Given the description of an element on the screen output the (x, y) to click on. 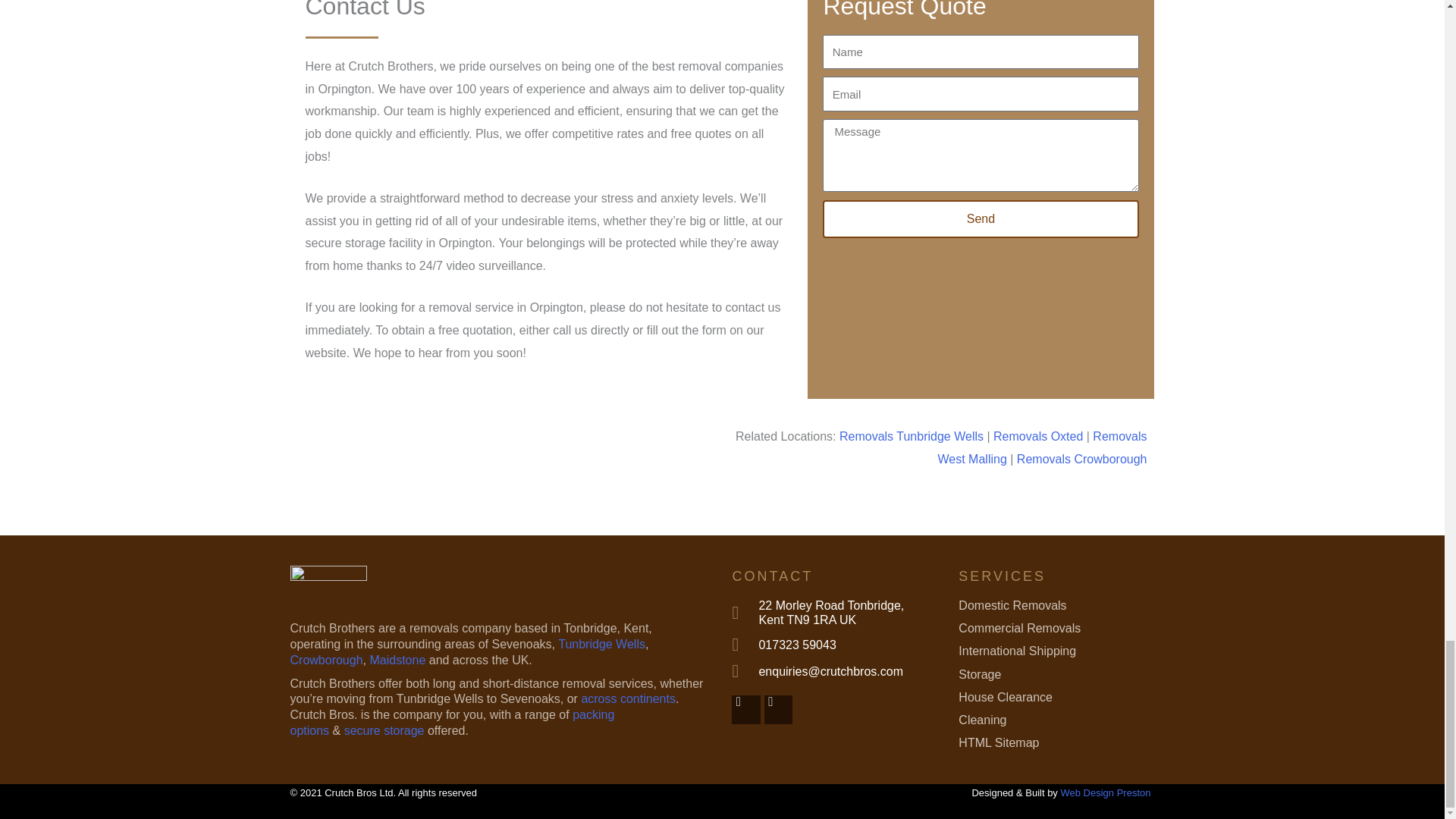
Learn more about Crutch Bros. secure storage (384, 730)
Learn more about Crutch Bros. packing options. (451, 722)
Crutch Bros. ships home removals abroad (627, 698)
